Given the description of an element on the screen output the (x, y) to click on. 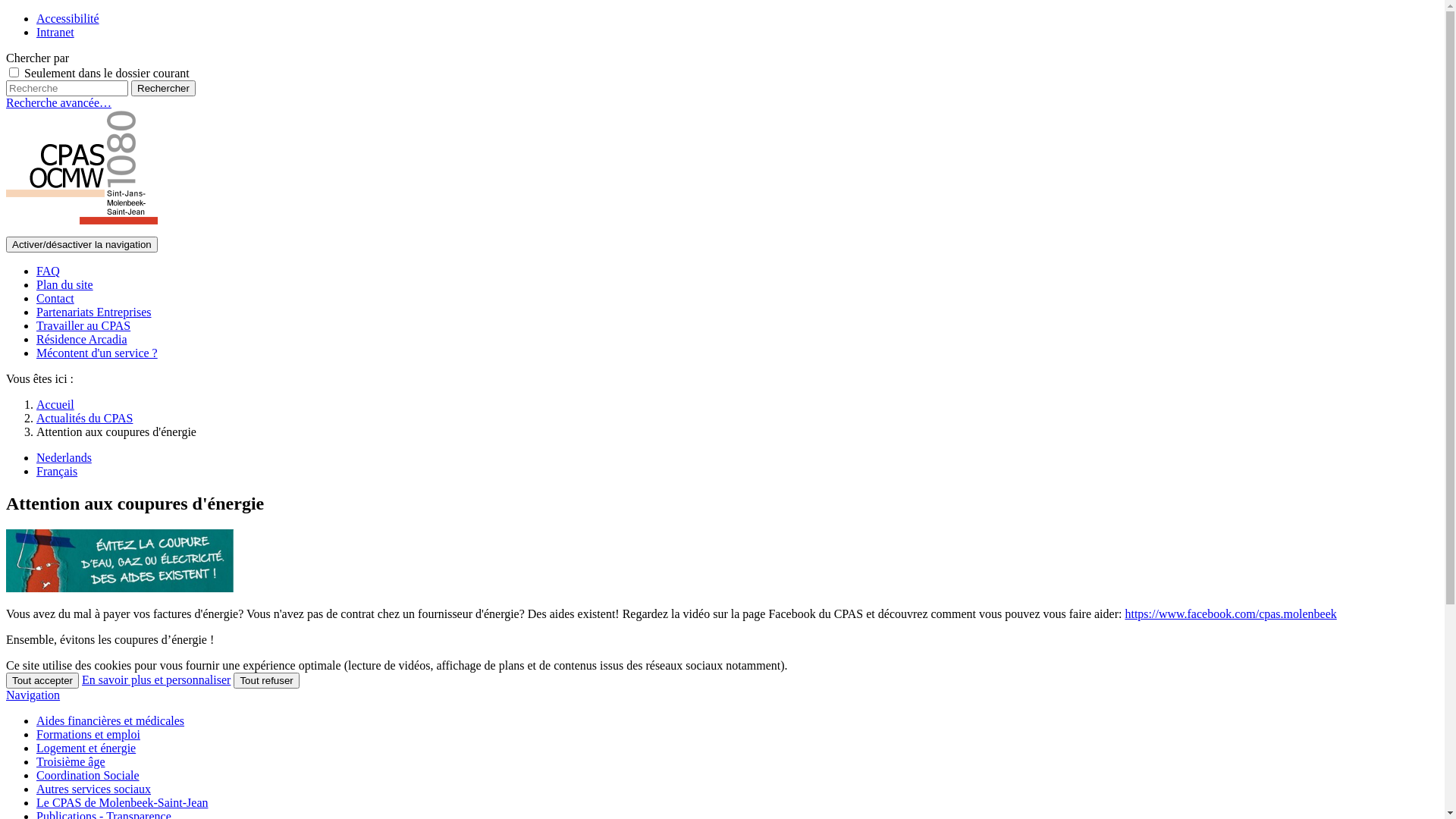
Tout refuser Element type: text (265, 680)
Coordination Sociale Element type: text (87, 774)
Tout accepter Element type: text (42, 680)
Contact Element type: text (55, 297)
Le CPAS de Molenbeek-Saint-Jean Element type: text (121, 802)
https://www.facebook.com/cpas.molenbeek Element type: text (1230, 613)
Autres services sociaux Element type: text (93, 788)
Plan du site Element type: text (64, 284)
Banner campagne attention aux coupures Element type: hover (119, 560)
Nederlands Element type: text (63, 457)
Accueil Element type: text (55, 404)
Formations et emploi Element type: text (88, 734)
Rechercher Element type: text (163, 88)
Travailler au CPAS Element type: text (83, 325)
fr Element type: hover (81, 228)
Navigation Element type: text (32, 694)
En savoir plus et personnaliser Element type: text (155, 679)
FAQ Element type: text (47, 270)
Partenariats Entreprises Element type: text (93, 311)
CPAS de Molenbeek-Saint-Jean - OCMW van Sint-Jans-Molenbeek Element type: hover (81, 171)
Recherche Element type: hover (67, 88)
Intranet Element type: text (55, 31)
